Given the description of an element on the screen output the (x, y) to click on. 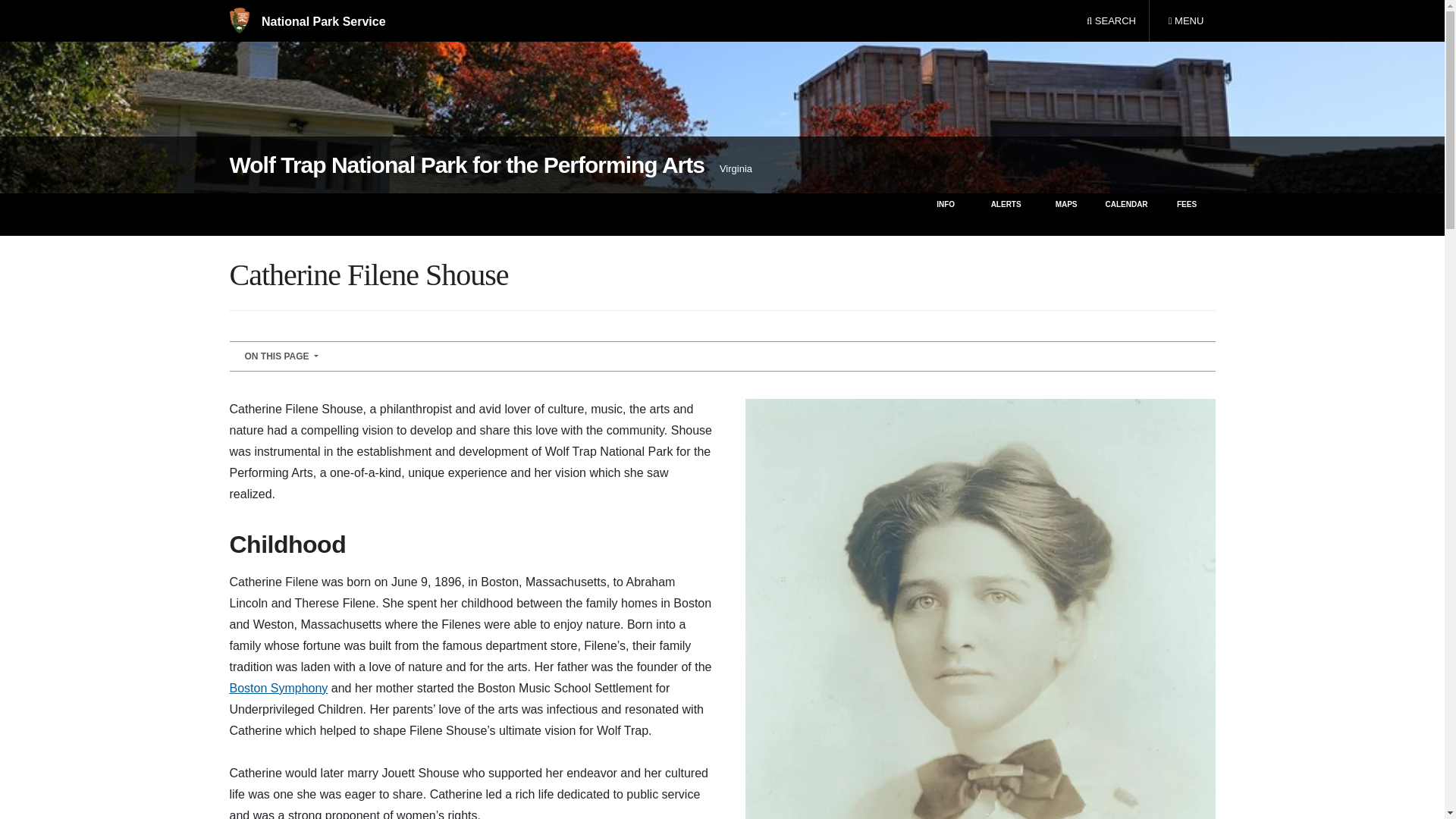
ALERTS (1004, 214)
CALENDAR (1125, 214)
INFO (945, 214)
SEARCH (1185, 20)
MAPS (1111, 20)
Wolf Trap National Park for the Performing Arts (1066, 214)
FEES (721, 356)
Boston Symphony (465, 164)
National Park Service (1186, 214)
